Given the description of an element on the screen output the (x, y) to click on. 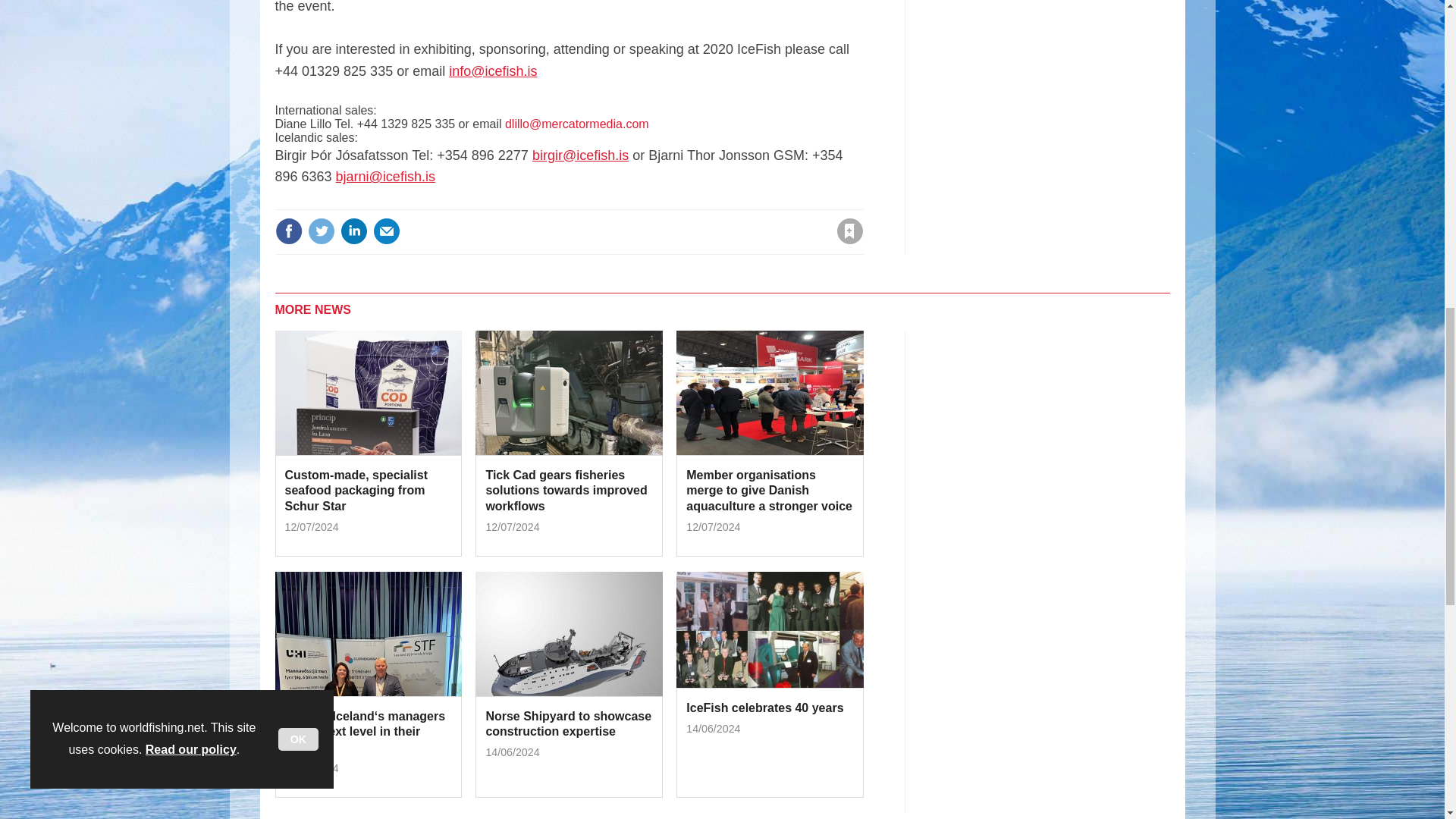
Email this article (386, 230)
Share this on Linked in (352, 230)
Share this on Twitter (320, 230)
Share this on Facebook (288, 230)
